Given the description of an element on the screen output the (x, y) to click on. 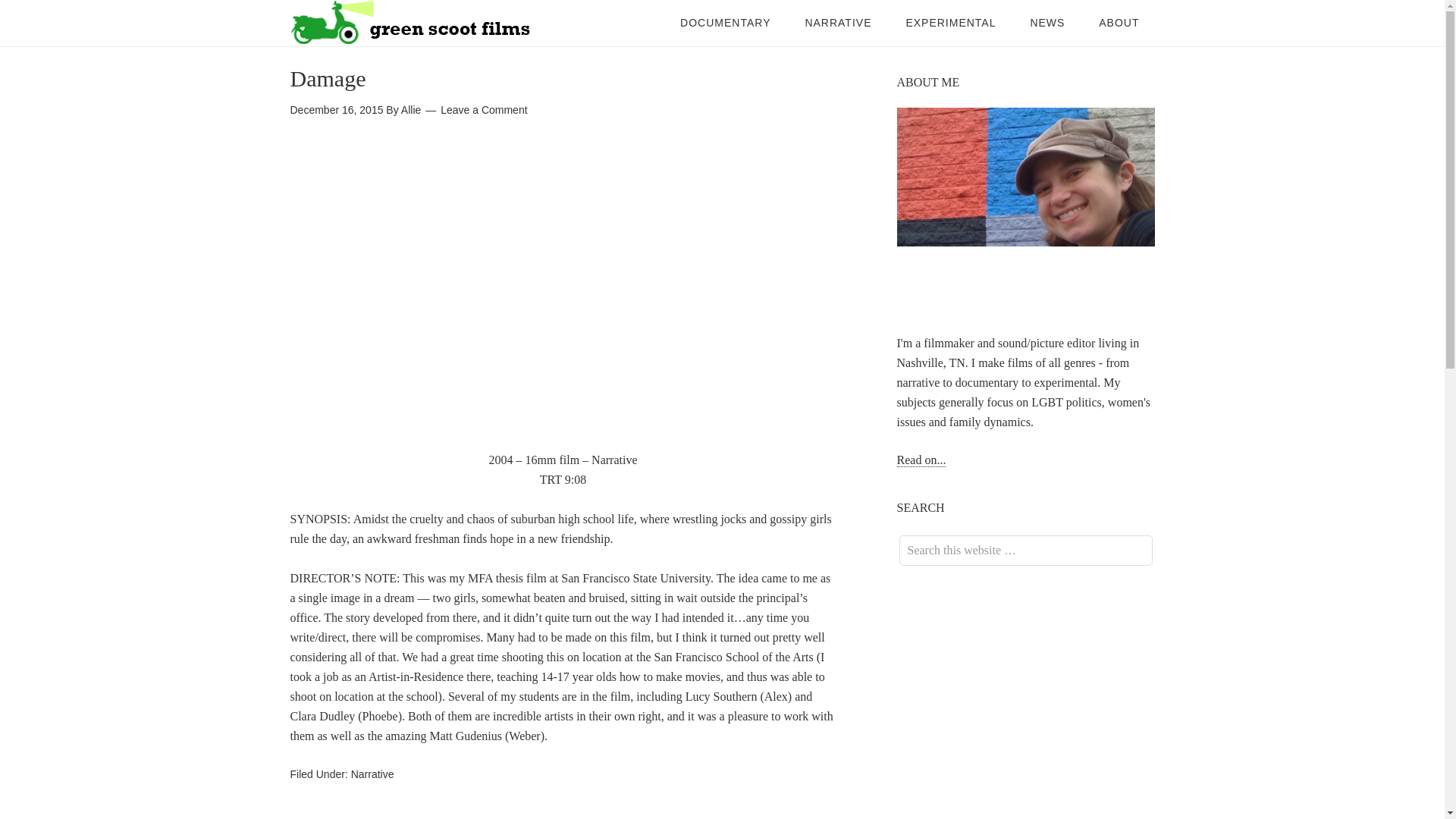
ABOUT (1118, 22)
Narrative (372, 774)
NEWS (1047, 22)
EXPERIMENTAL (949, 22)
Leave a Comment (484, 110)
DOCUMENTARY (725, 22)
Allie (410, 110)
Read on... (920, 459)
GREEN SCOOT FILMS (410, 22)
